Given the description of an element on the screen output the (x, y) to click on. 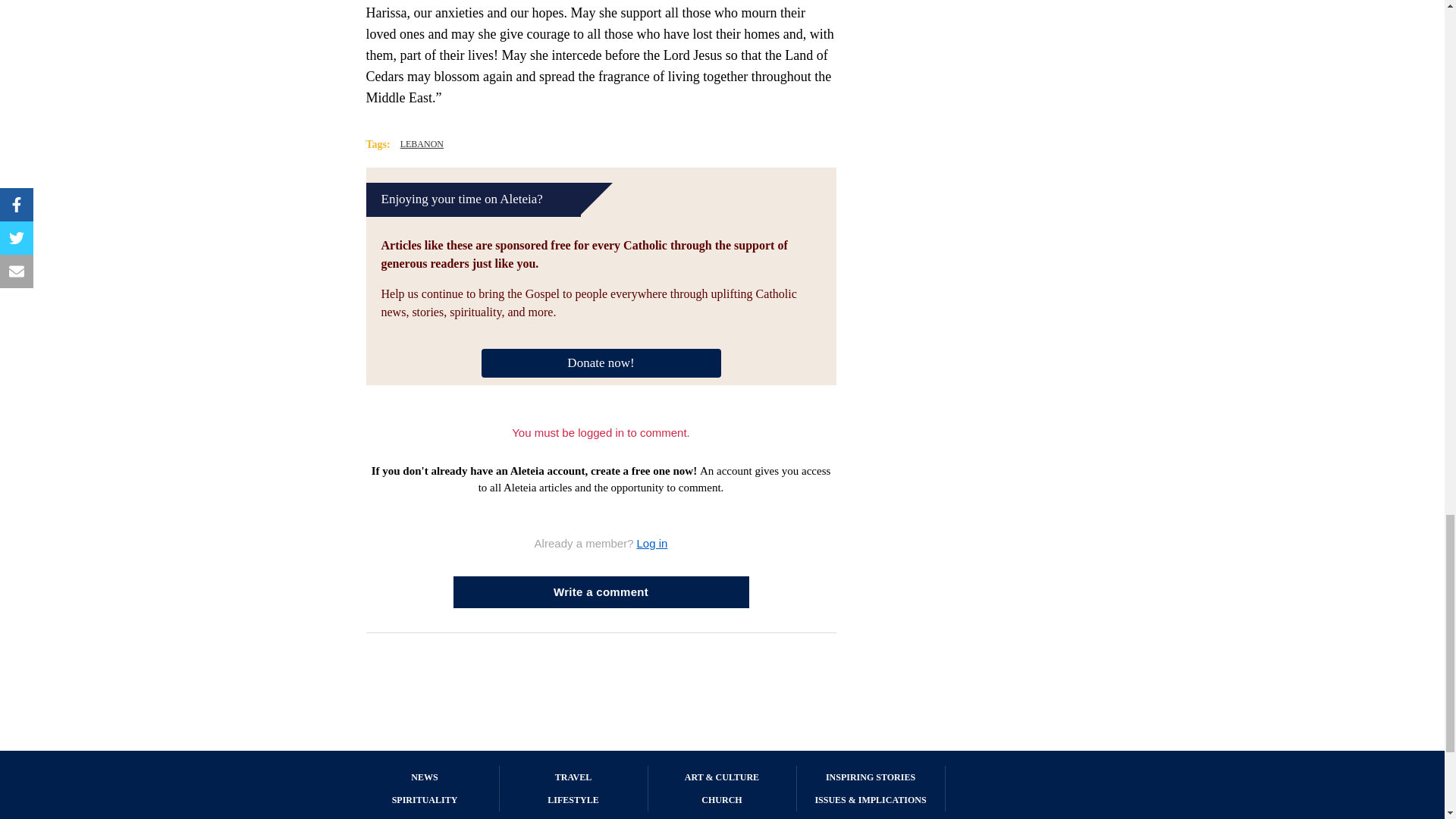
Donate now! (600, 361)
LEBANON (421, 144)
